Given the description of an element on the screen output the (x, y) to click on. 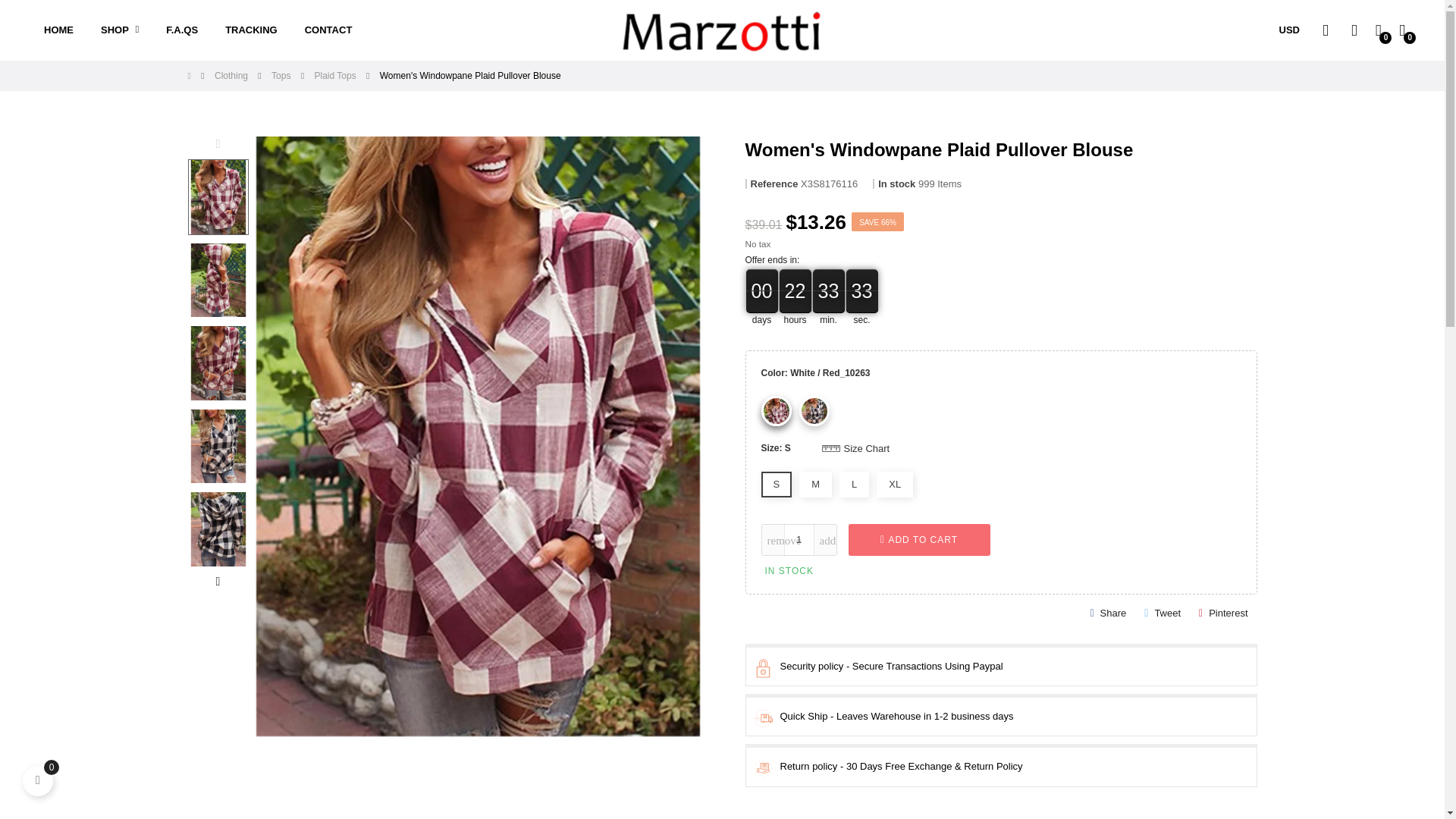
1 (798, 539)
SHOP (119, 30)
HOME (58, 30)
